Given the description of an element on the screen output the (x, y) to click on. 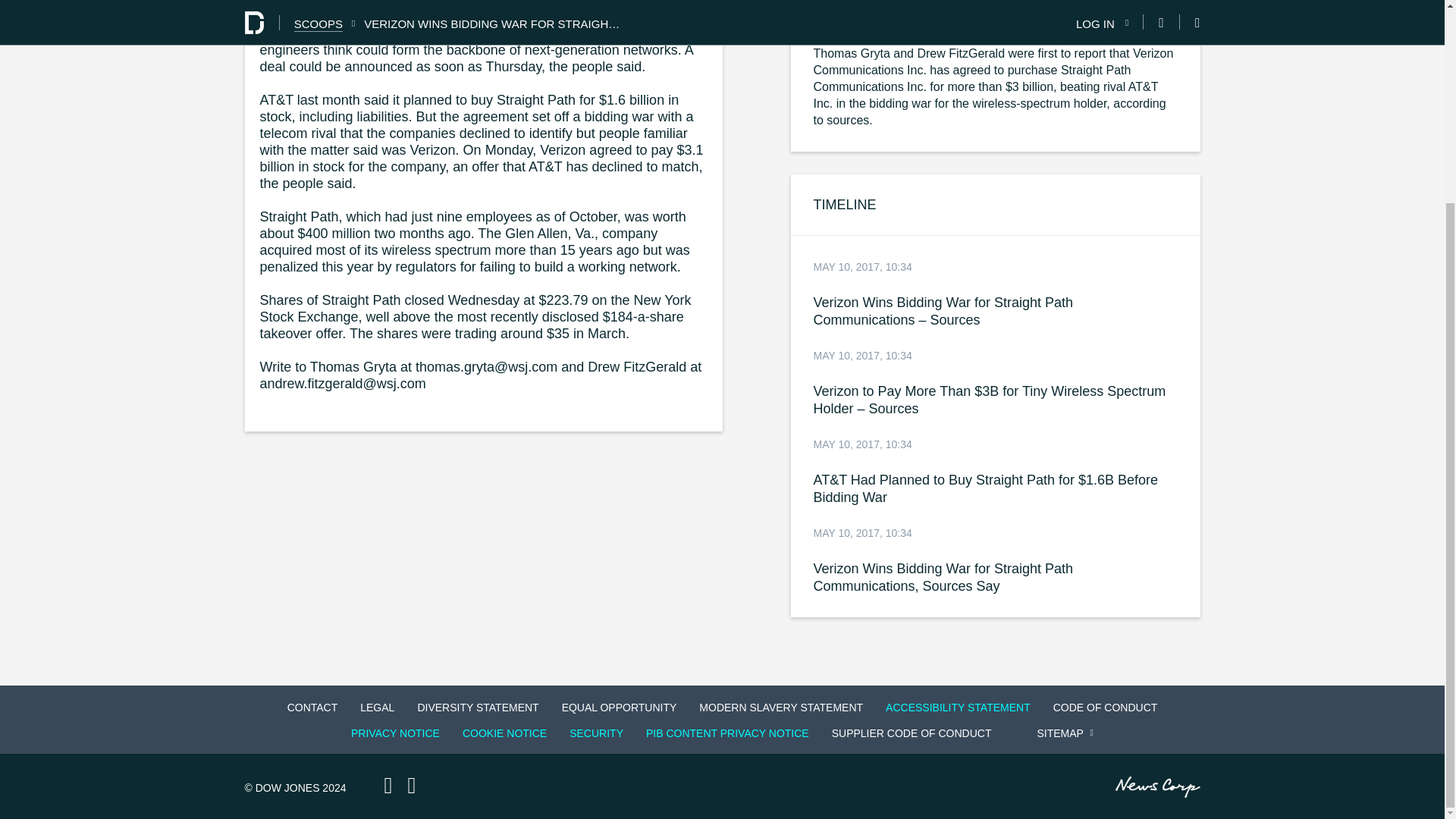
CODE OF CONDUCT (1105, 707)
CONTACT (312, 707)
PIB CONTENT PRIVACY NOTICE (727, 733)
MODERN SLAVERY STATEMENT (780, 707)
PRIVACY NOTICE (394, 733)
DIVERSITY STATEMENT (477, 707)
LEGAL (376, 707)
ACCESSIBILITY STATEMENT (957, 707)
EQUAL OPPORTUNITY (619, 707)
SECURITY (596, 733)
